Given the description of an element on the screen output the (x, y) to click on. 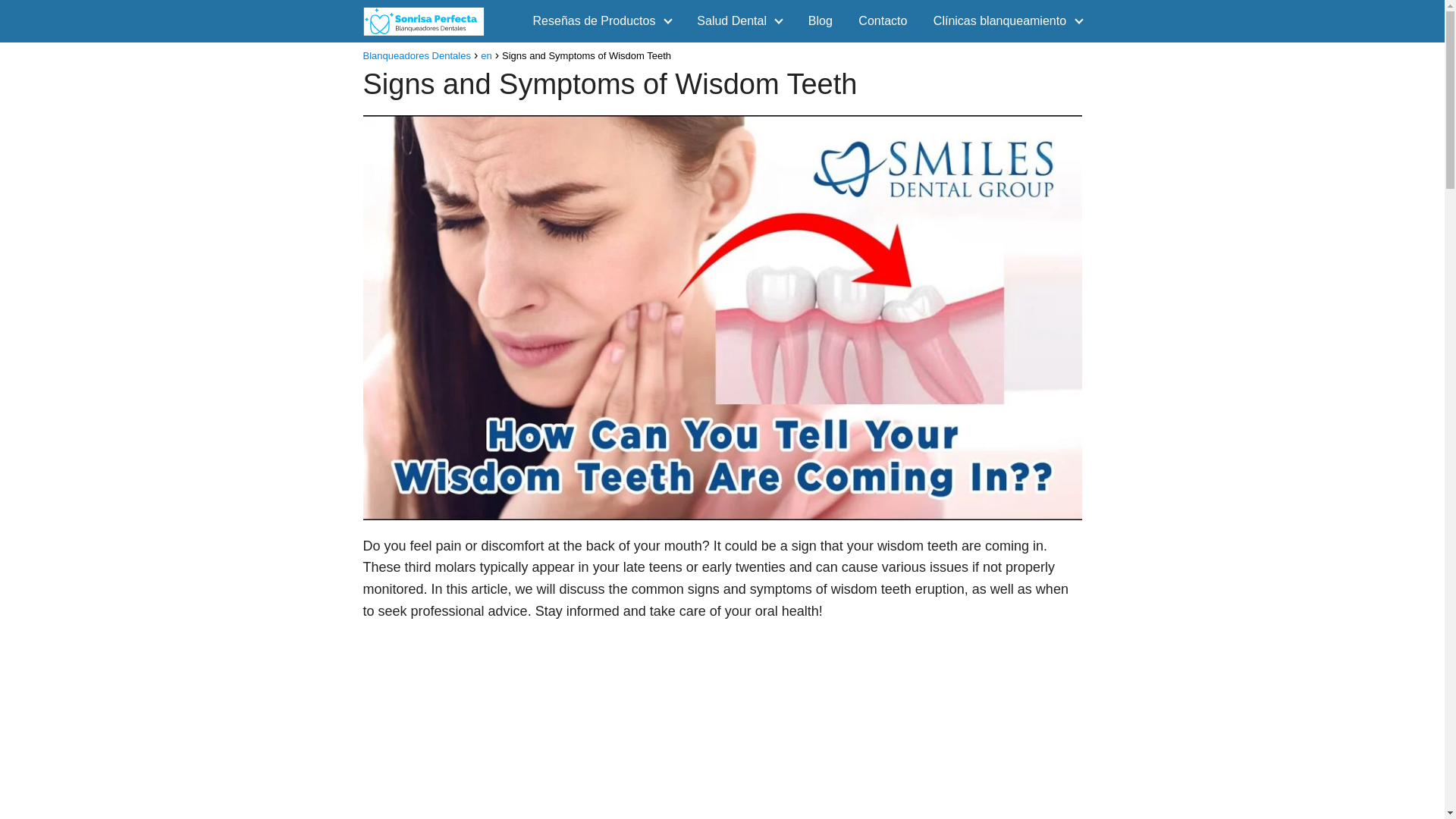
Blog (820, 20)
Salud Dental (735, 20)
Contacto (883, 20)
